Given the description of an element on the screen output the (x, y) to click on. 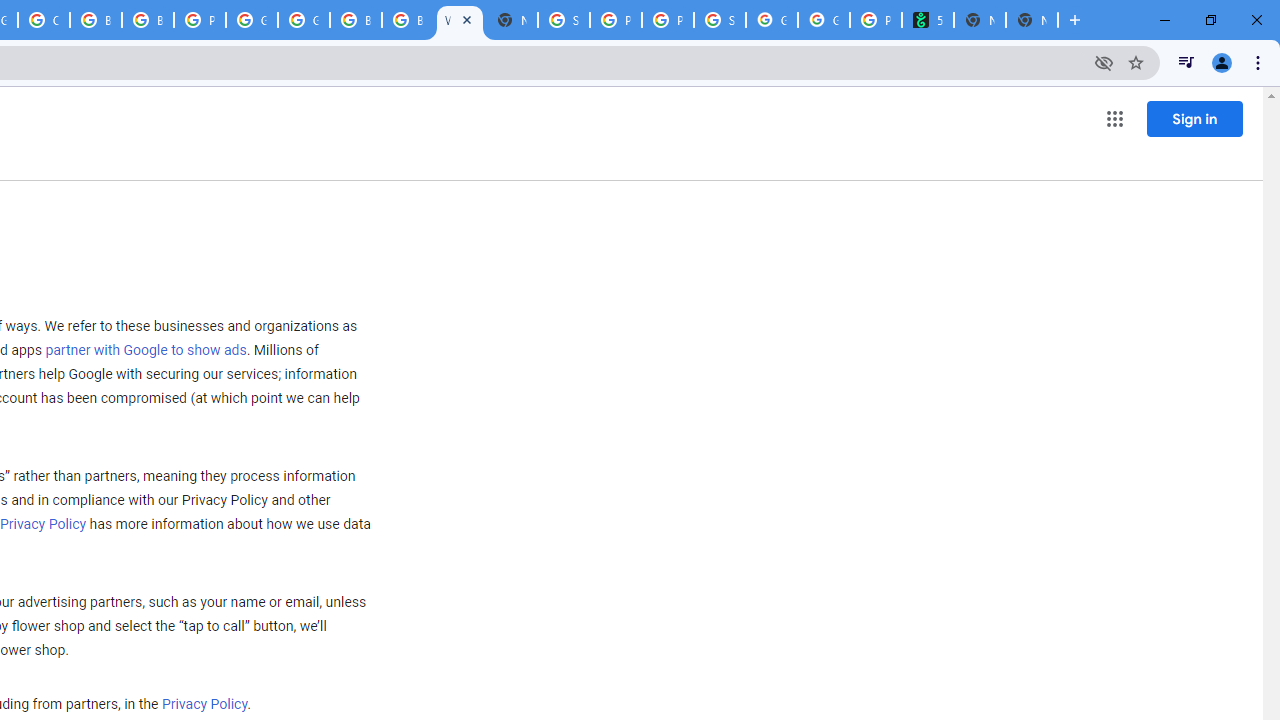
New Tab (1032, 20)
Browse Chrome as a guest - Computer - Google Chrome Help (95, 20)
Browse Chrome as a guest - Computer - Google Chrome Help (355, 20)
Google Cloud Platform (251, 20)
partner with Google to show ads (145, 351)
